Given the description of an element on the screen output the (x, y) to click on. 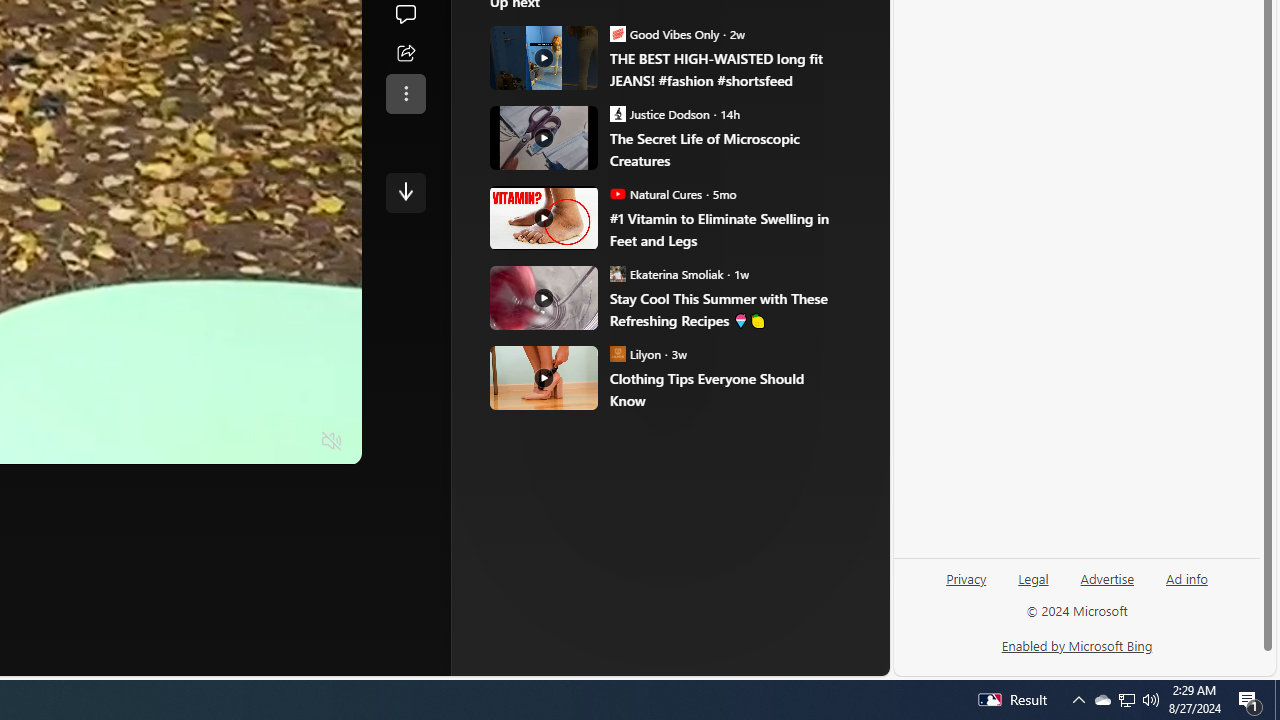
#1 Vitamin to Eliminate Swelling in Feet and Legs (726, 229)
Class: control (406, 192)
Fullscreen (293, 442)
Ekaterina Smoliak Ekaterina Smoliak (667, 273)
Ad info (1187, 577)
Good Vibes Only Good Vibes Only (664, 33)
Unmute (332, 442)
Ekaterina Smoliak (617, 273)
Privacy (965, 577)
See more (406, 93)
Ad (572, 337)
#1 Vitamin to Eliminate Swelling in Feet and Legs (543, 217)
Good Vibes Only (617, 33)
Justice Dodson Justice Dodson (660, 113)
